Given the description of an element on the screen output the (x, y) to click on. 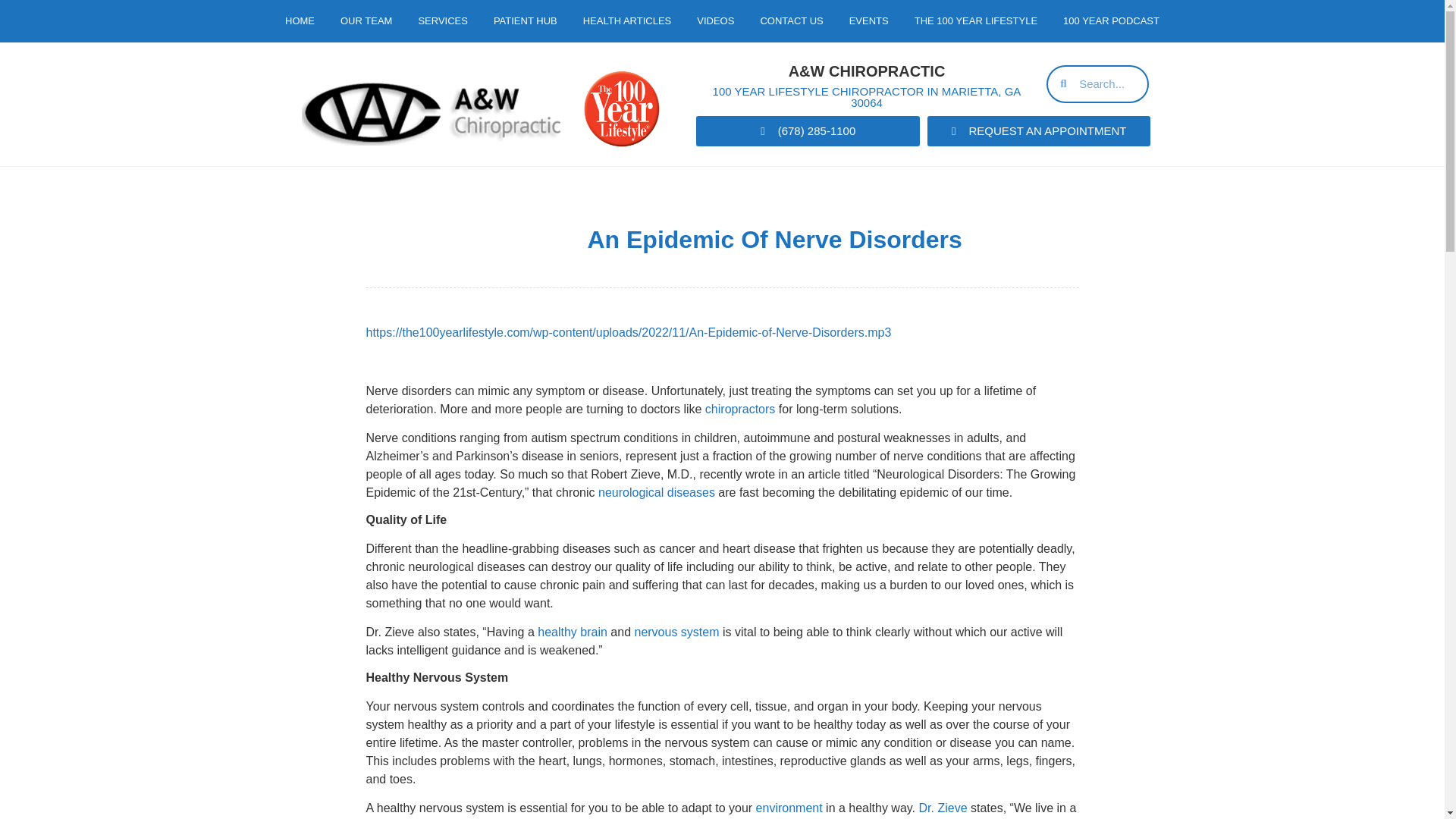
HOME (299, 21)
OUR TEAM (365, 21)
SERVICES (442, 21)
